Given the description of an element on the screen output the (x, y) to click on. 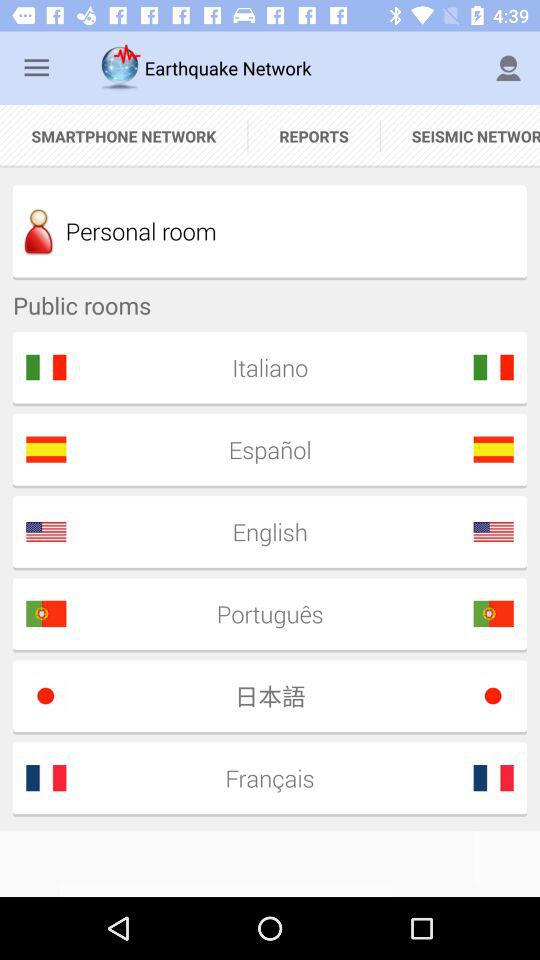
click the icon to the left of seismic networks app (313, 136)
